Given the description of an element on the screen output the (x, y) to click on. 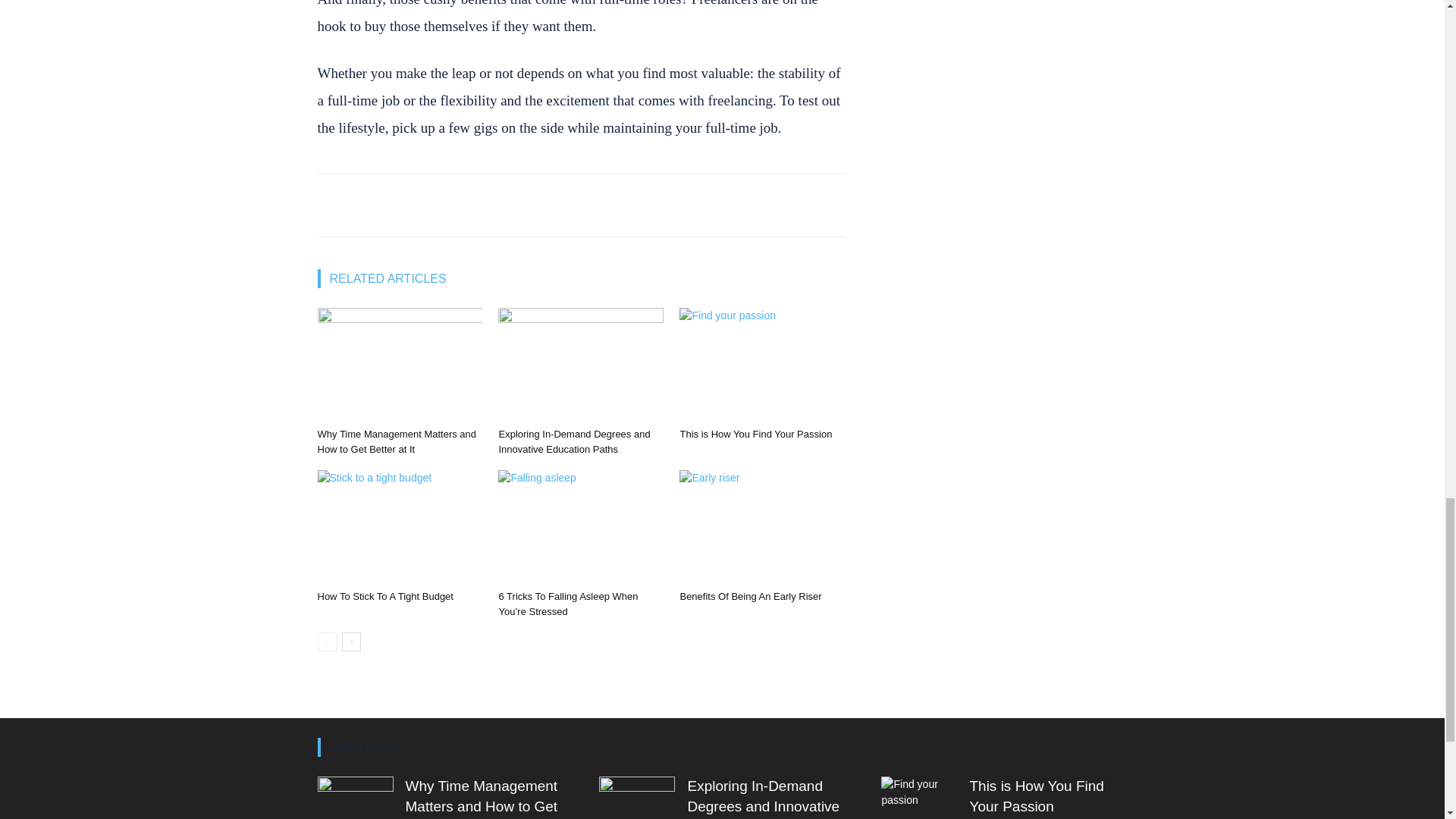
Why Time Management Matters and How to Get Better at It (396, 441)
RELATED ARTICLES (385, 278)
This is How You Find Your Passion (761, 364)
Why Time Management Matters and How to Get Better at It (399, 364)
Exploring In-Demand Degrees and Innovative Education Paths (580, 364)
Exploring In-Demand Degrees and Innovative Education Paths (573, 441)
Why Time Management Matters and How to Get Better at It (396, 441)
Exploring In-Demand Degrees and Innovative Education Paths (573, 441)
